Given the description of an element on the screen output the (x, y) to click on. 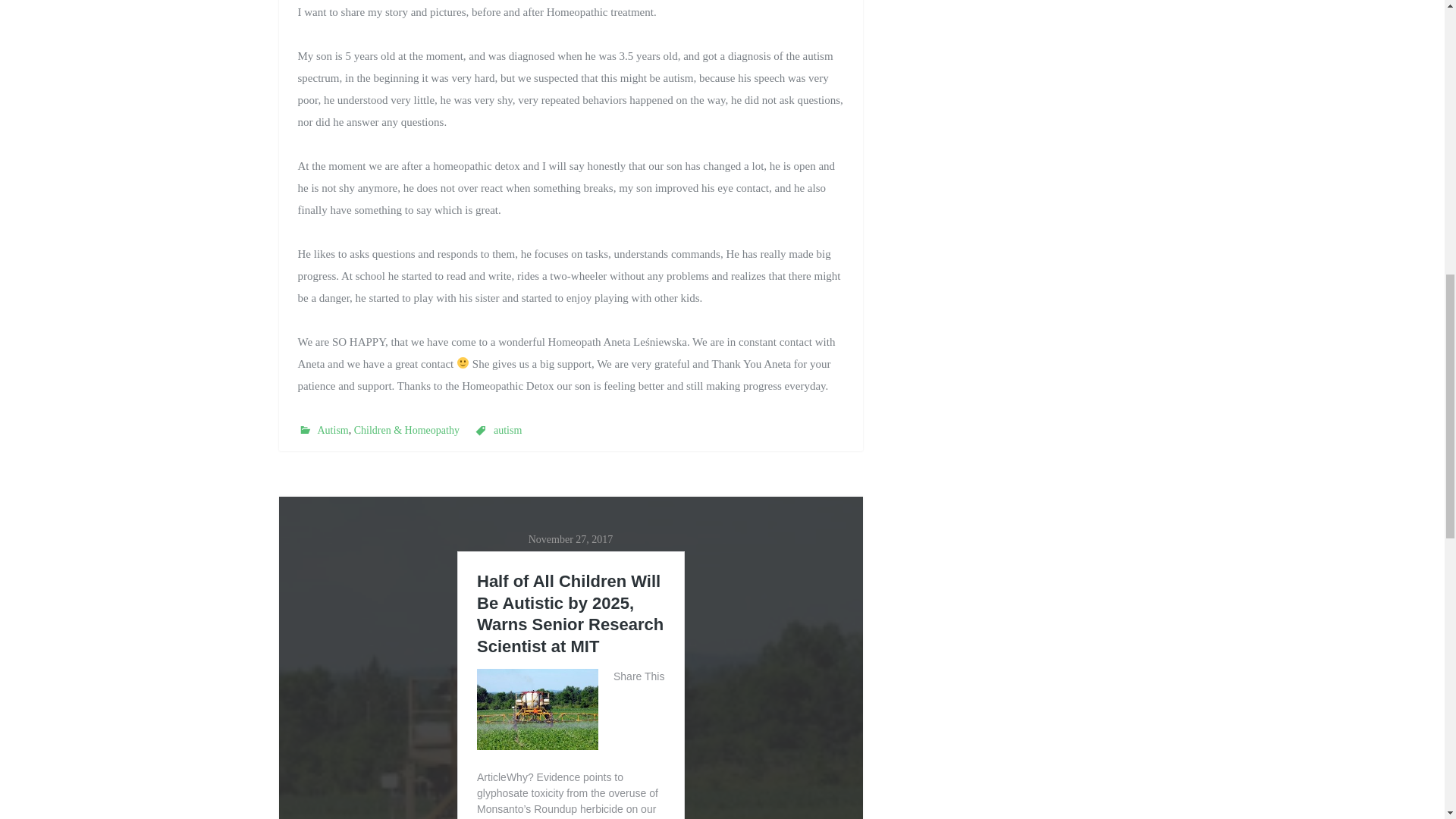
November 27, 2017 (570, 539)
autism (507, 430)
Autism (332, 430)
